Given the description of an element on the screen output the (x, y) to click on. 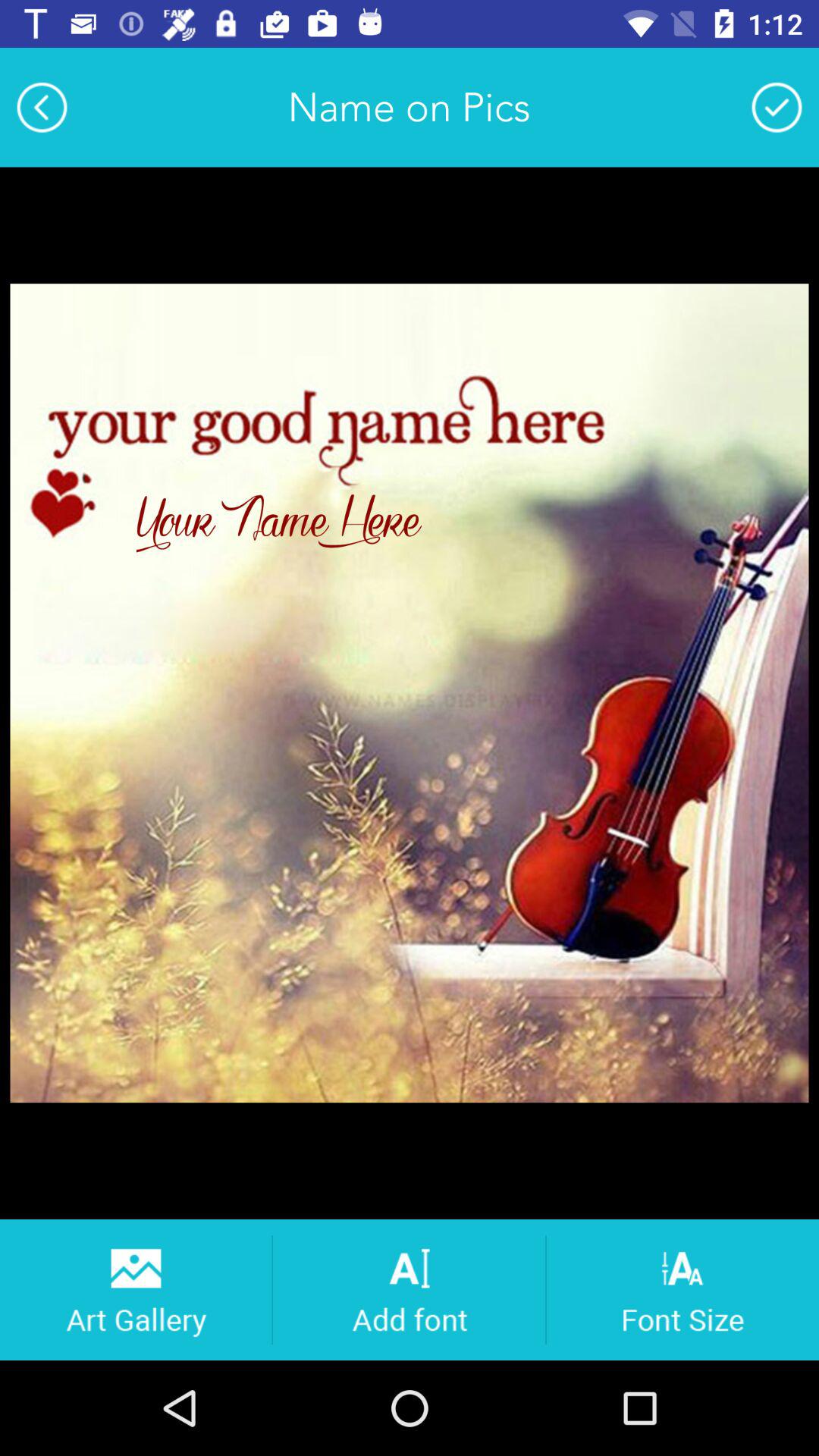
view photos (135, 1289)
